Given the description of an element on the screen output the (x, y) to click on. 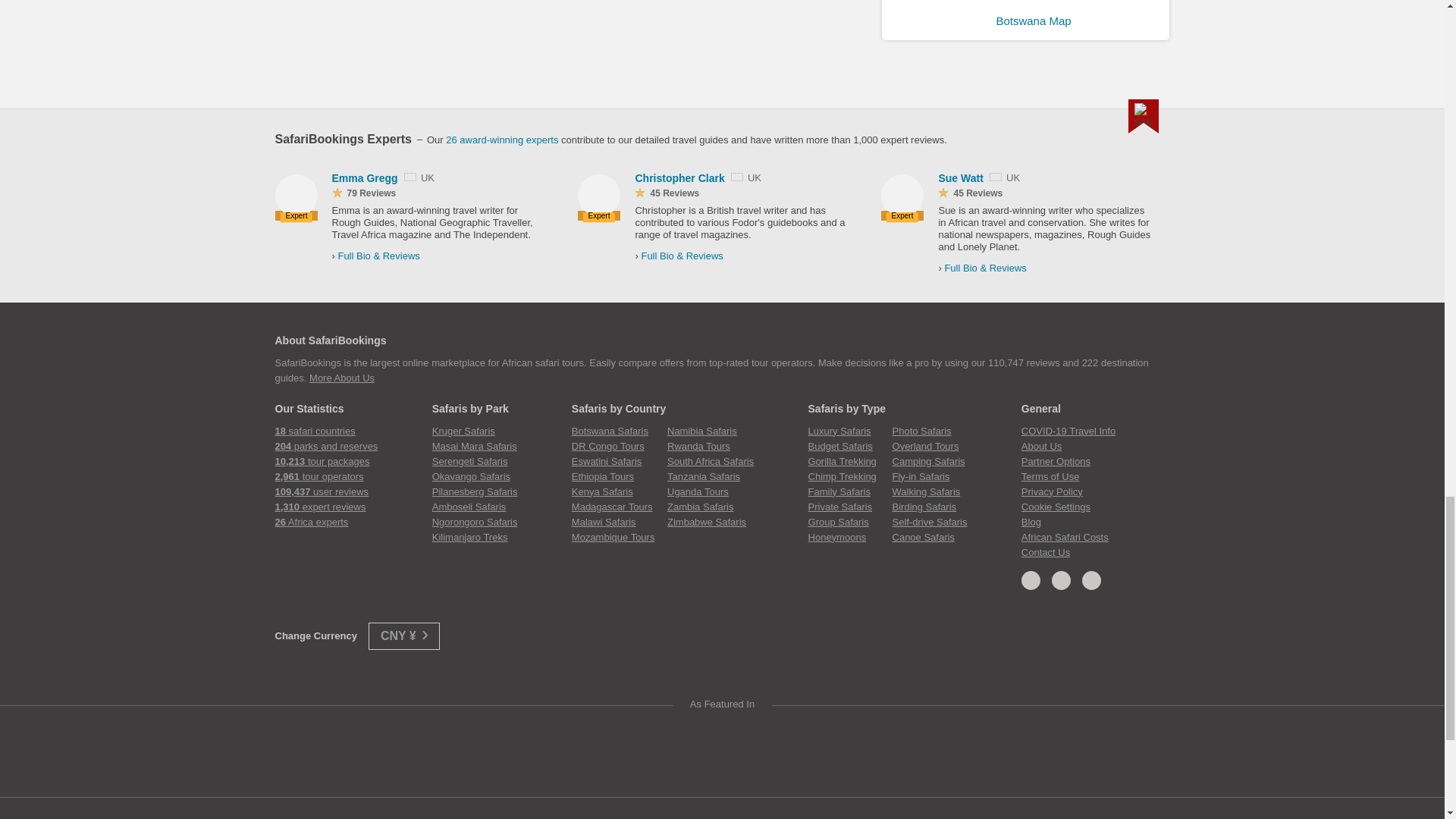
United Kingdom (995, 176)
United Kingdom (736, 176)
United Kingdom (410, 176)
